Given the description of an element on the screen output the (x, y) to click on. 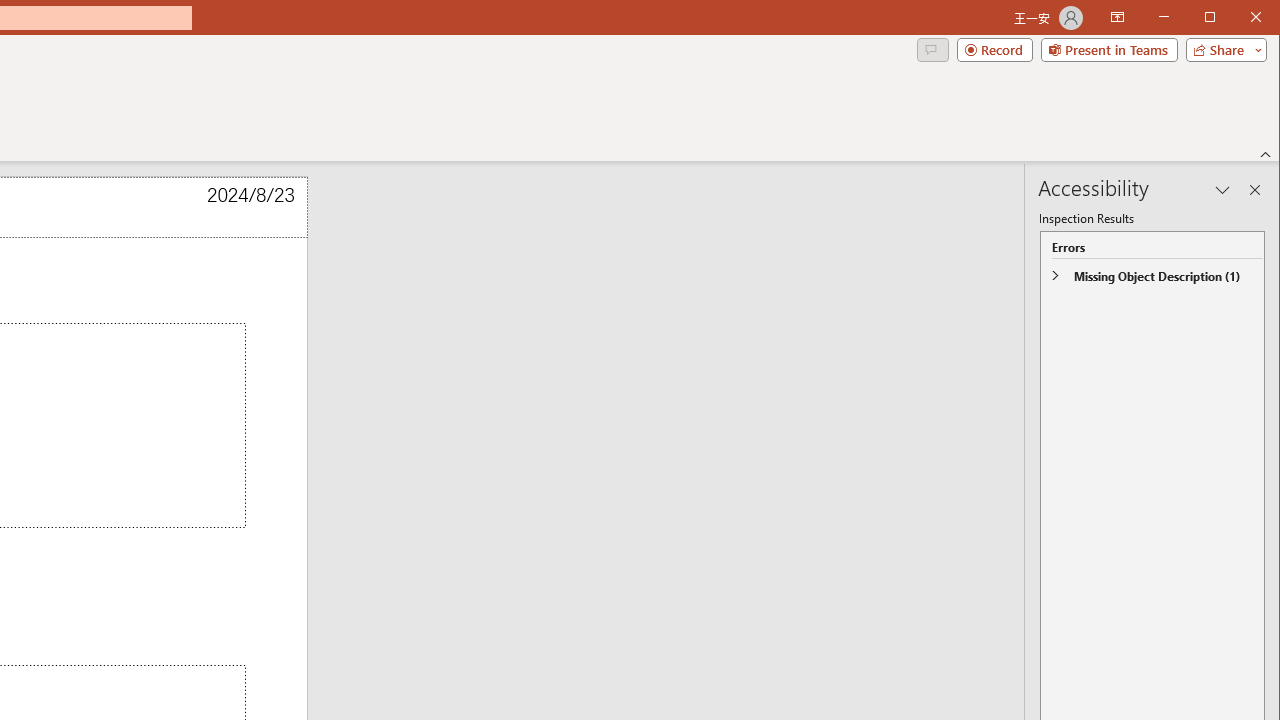
Maximize (1238, 18)
